Given the description of an element on the screen output the (x, y) to click on. 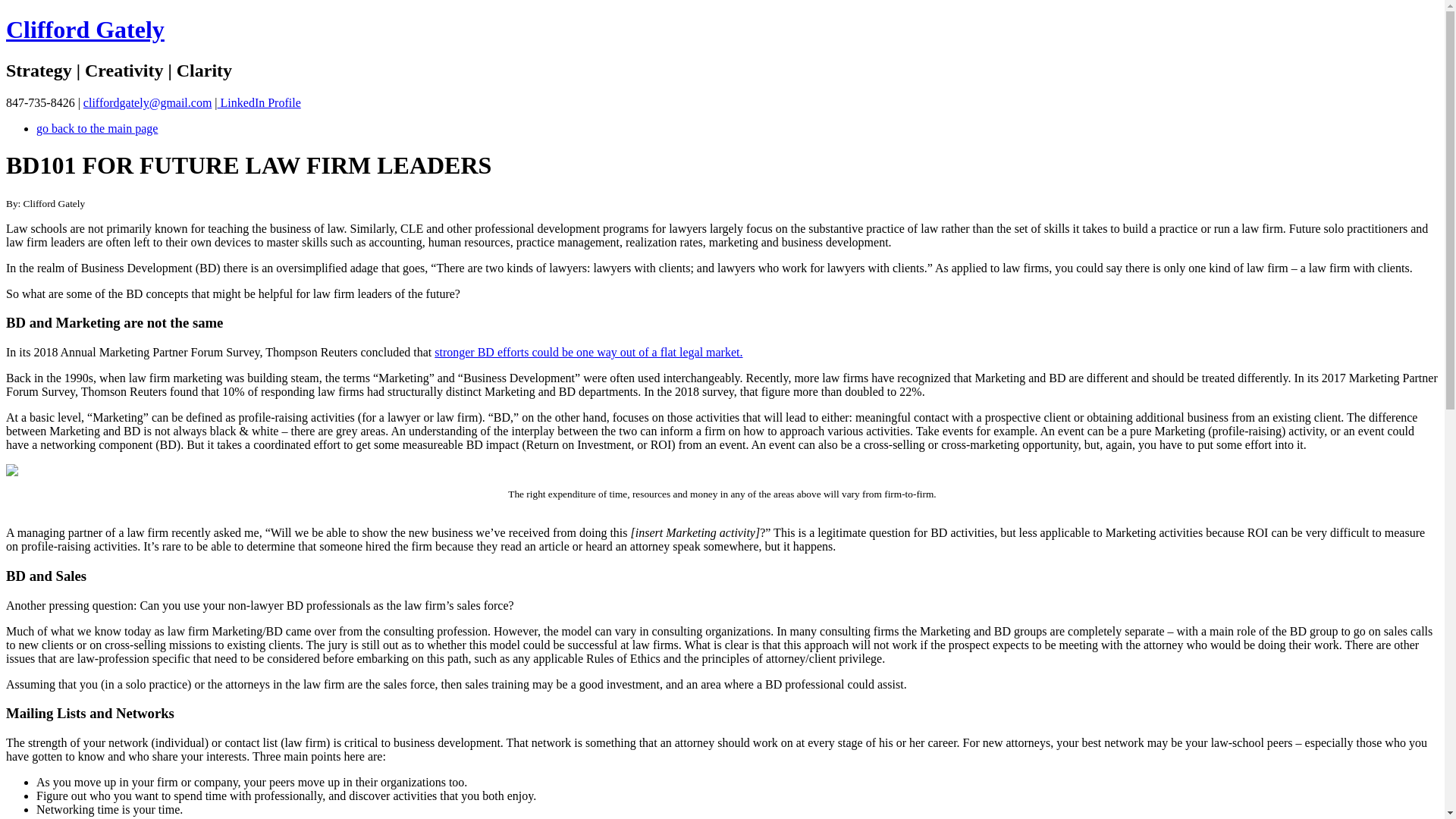
Clifford Gately (84, 29)
go back to the main page (96, 128)
LinkedIn Profile (258, 102)
